Given the description of an element on the screen output the (x, y) to click on. 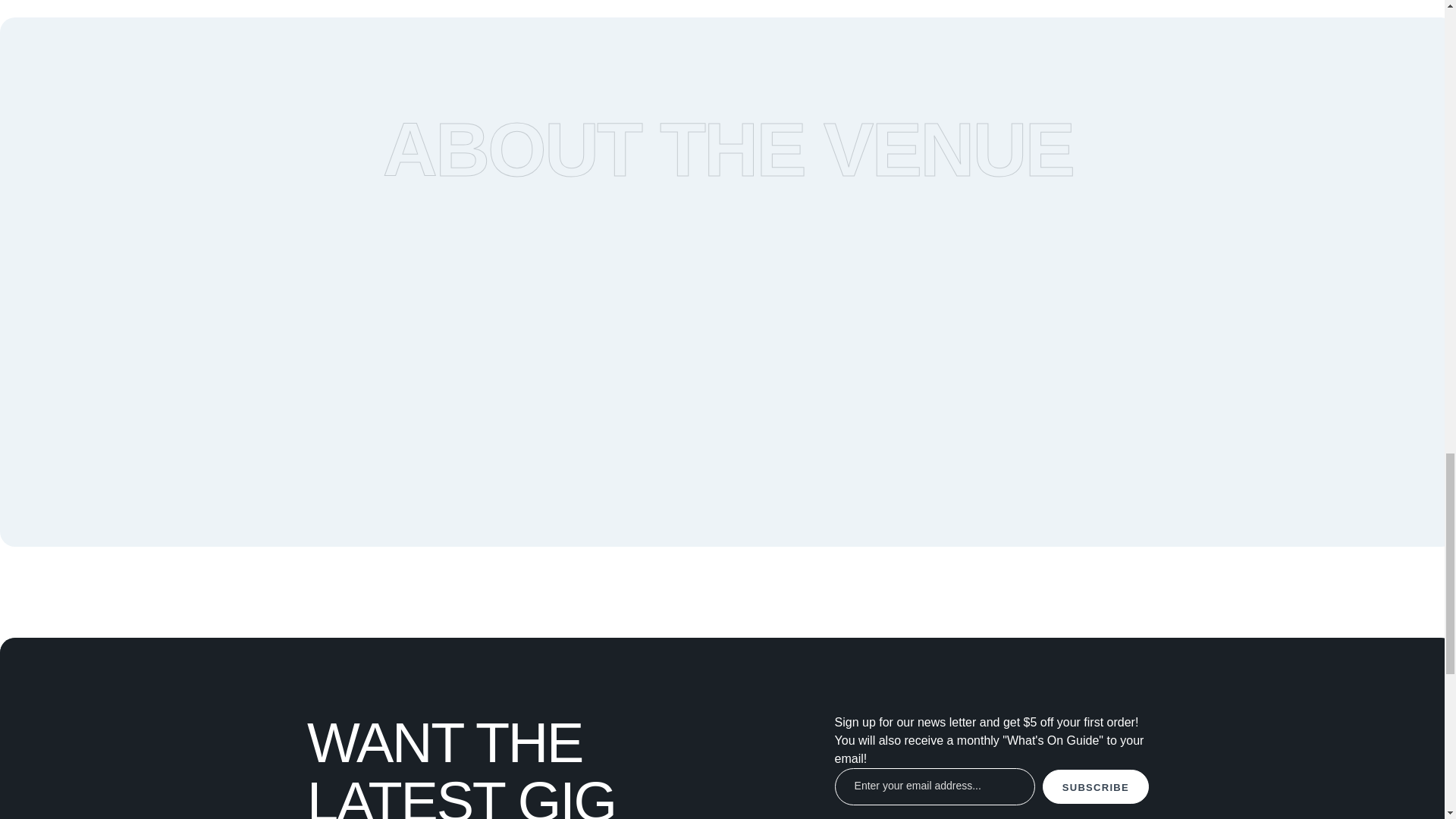
SUBSCRIBE (1095, 786)
